Given the description of an element on the screen output the (x, y) to click on. 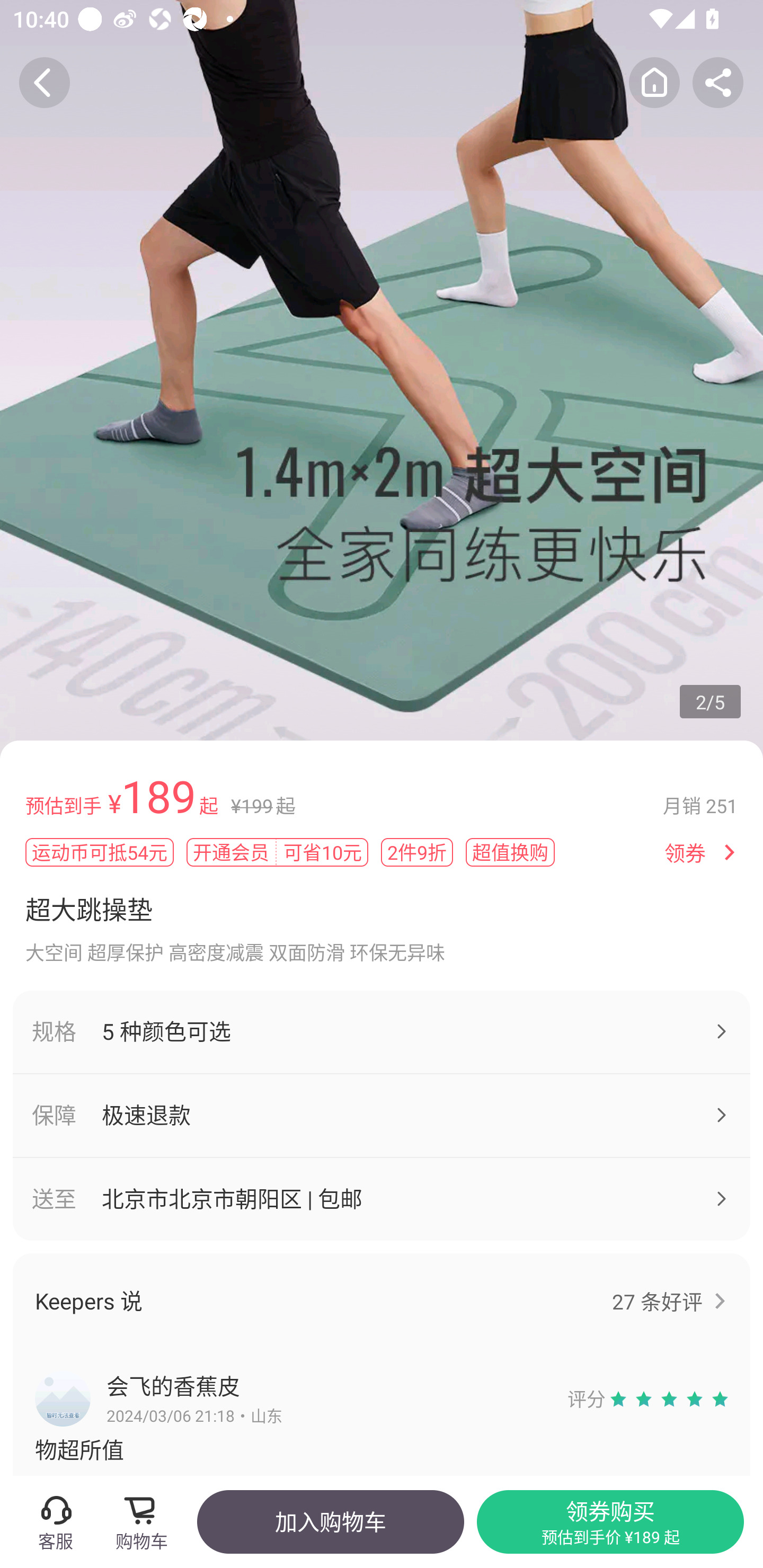
运动币可抵54元 开通会员 可省10元 2件9折 超值换购 (338, 852)
领券 (684, 852)
规格 5 种颜色可选 (381, 1031)
保障 极速退款 (381, 1115)
送至 北京市北京市朝阳区 | 包邮 (381, 1199)
Keepers 说 (368, 1300)
27 条好评 (656, 1301)
会飞的香蕉皮 2024/03/06 21:18・山东 评分 物超所值 (381, 1411)
客服 (55, 1521)
购物车 (147, 1521)
加入购物车 (329, 1521)
领券购买 预估到手价 ¥189 起 (609, 1521)
